Given the description of an element on the screen output the (x, y) to click on. 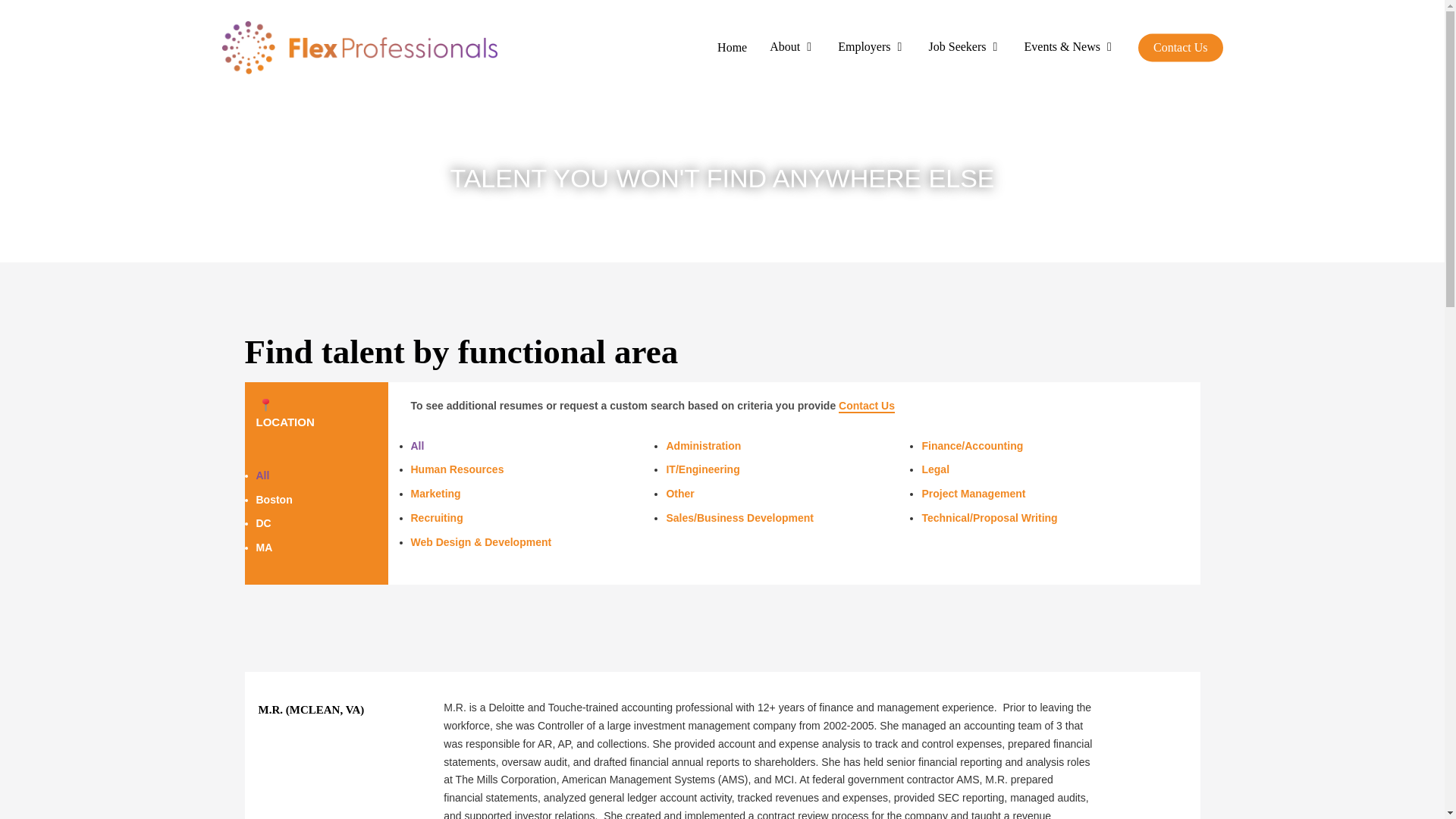
Marketing (534, 494)
Contact Us (1180, 47)
Other (789, 494)
Human Resources (534, 470)
MA (264, 547)
Legal (1045, 470)
Administration (789, 446)
All (534, 446)
All (262, 475)
About (792, 47)
Contact Us (866, 406)
Job Seekers (965, 47)
Boston (274, 499)
DC (263, 522)
Home (732, 47)
